Given the description of an element on the screen output the (x, y) to click on. 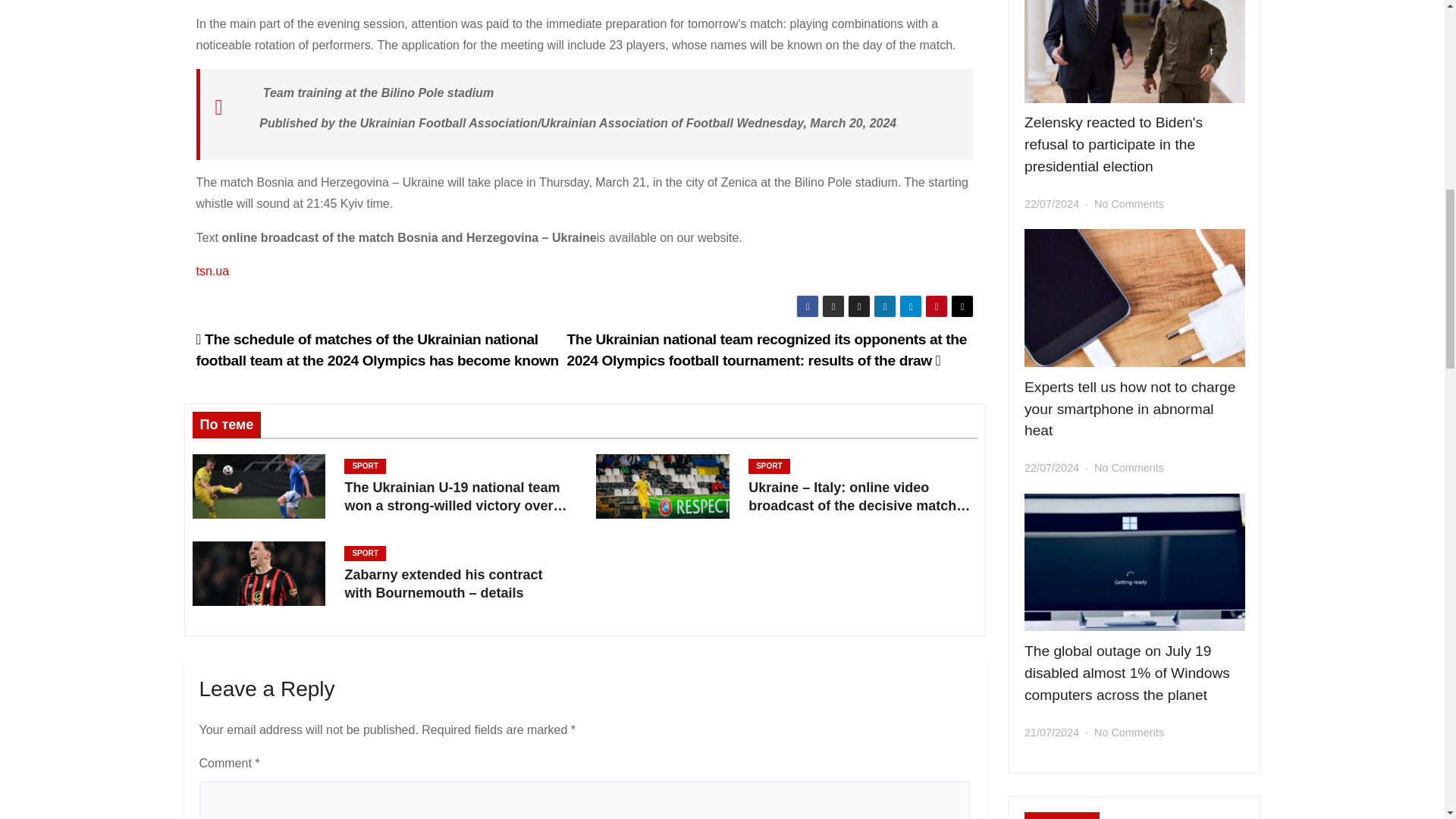
tsn.ua (211, 270)
